Given the description of an element on the screen output the (x, y) to click on. 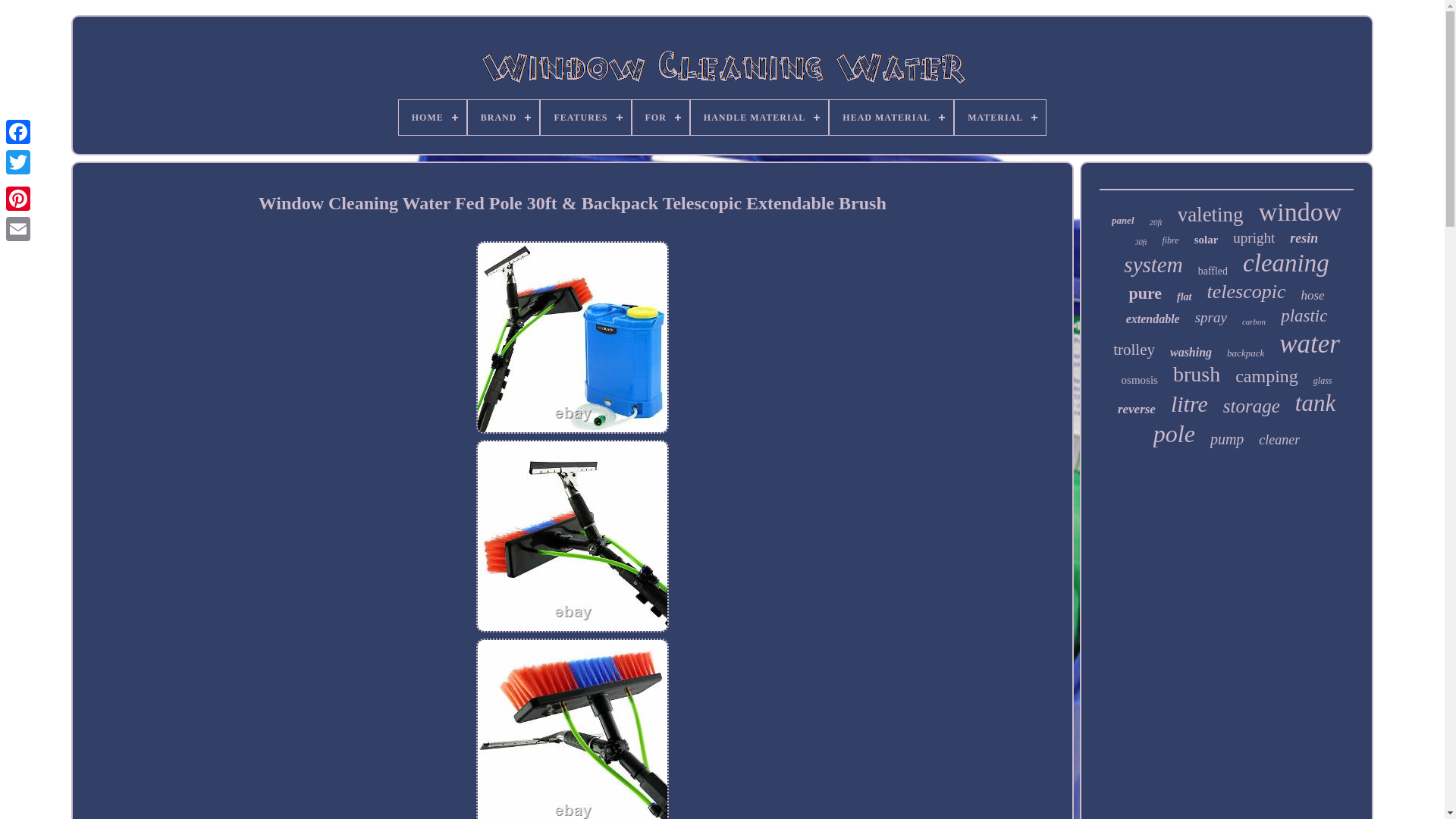
FEATURES (585, 117)
HOME (431, 117)
BRAND (503, 117)
